Given the description of an element on the screen output the (x, y) to click on. 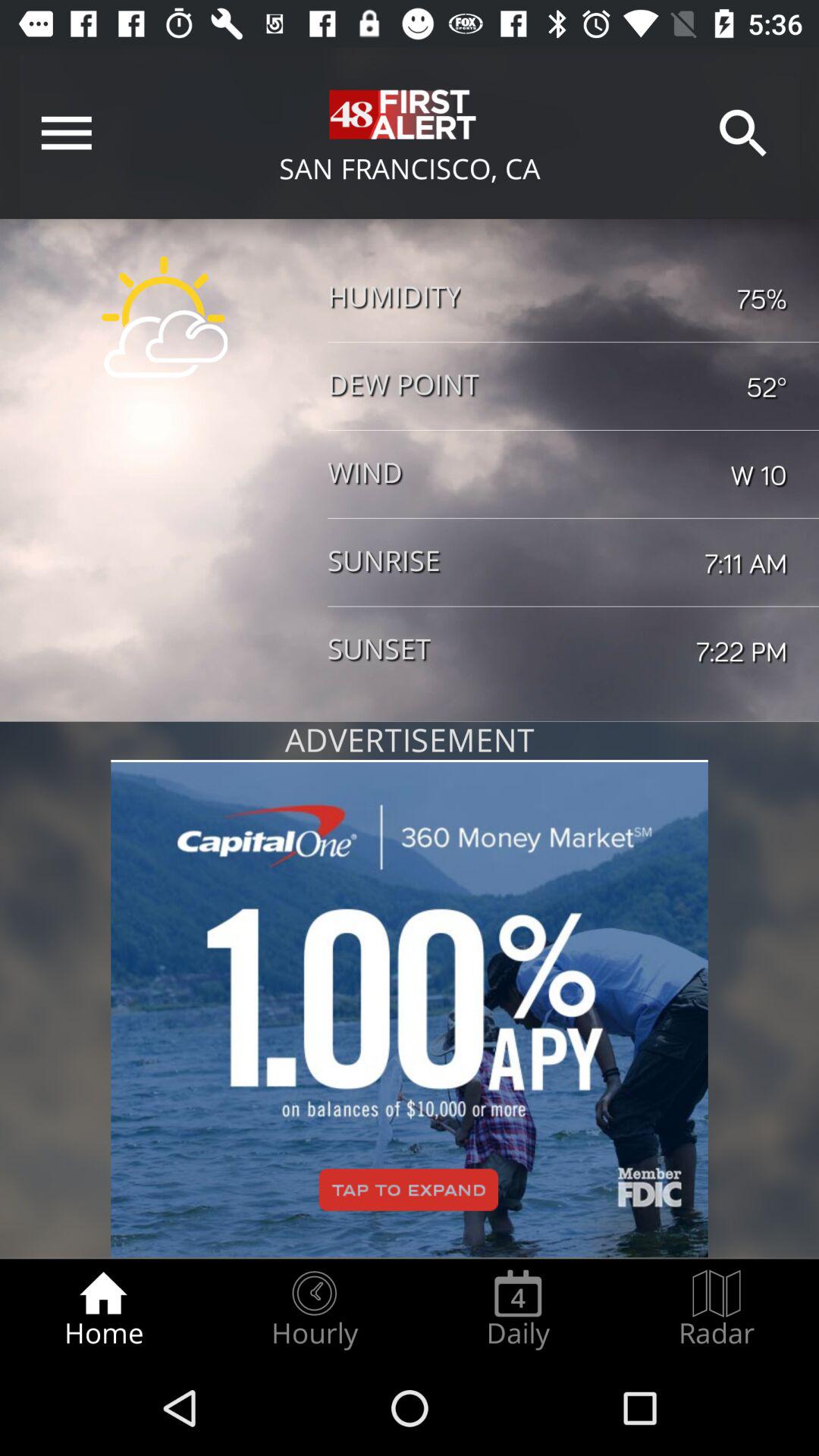
launch radar (716, 1309)
